Given the description of an element on the screen output the (x, y) to click on. 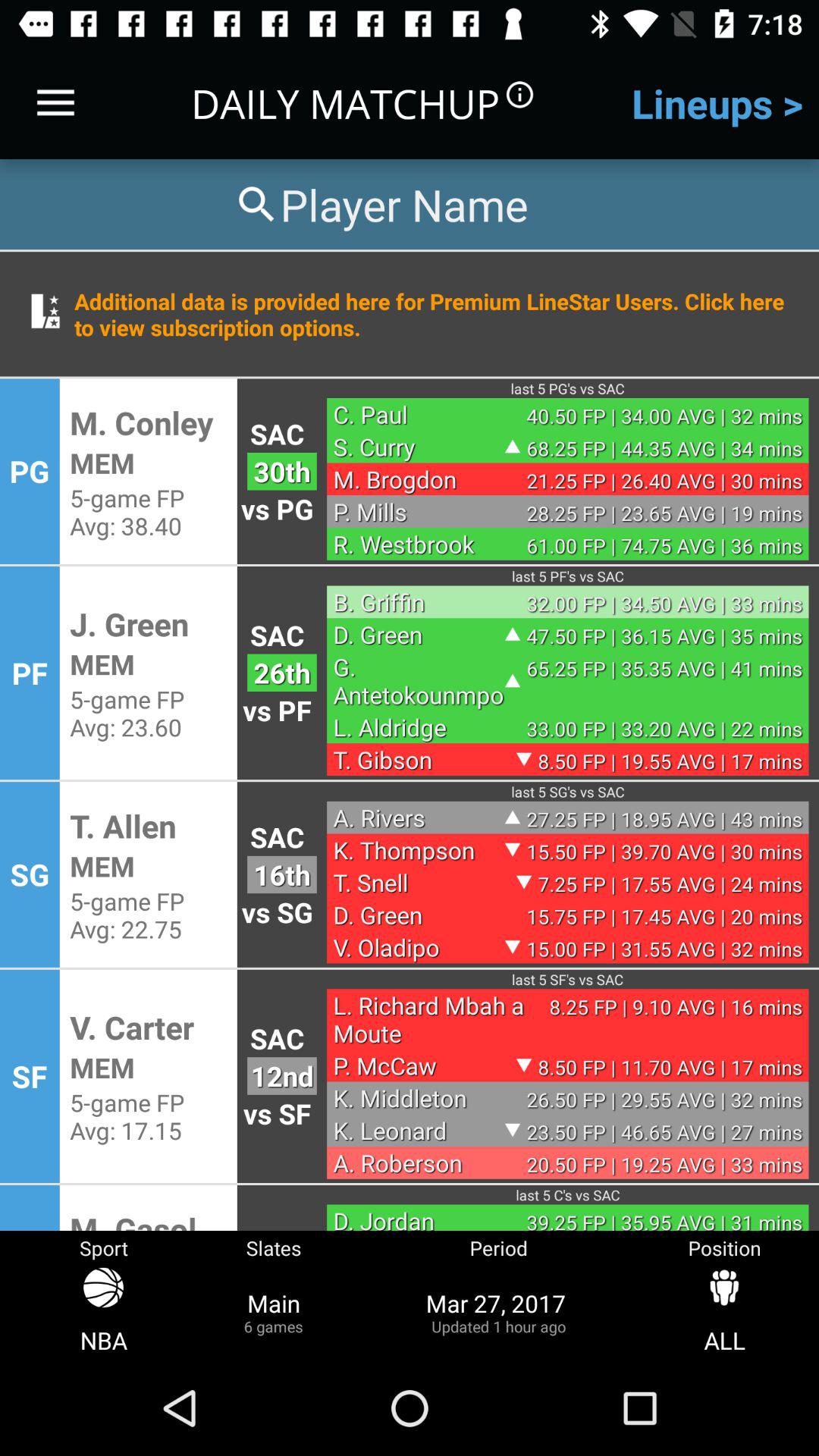
choose item next to daily matchup (55, 103)
